Given the description of an element on the screen output the (x, y) to click on. 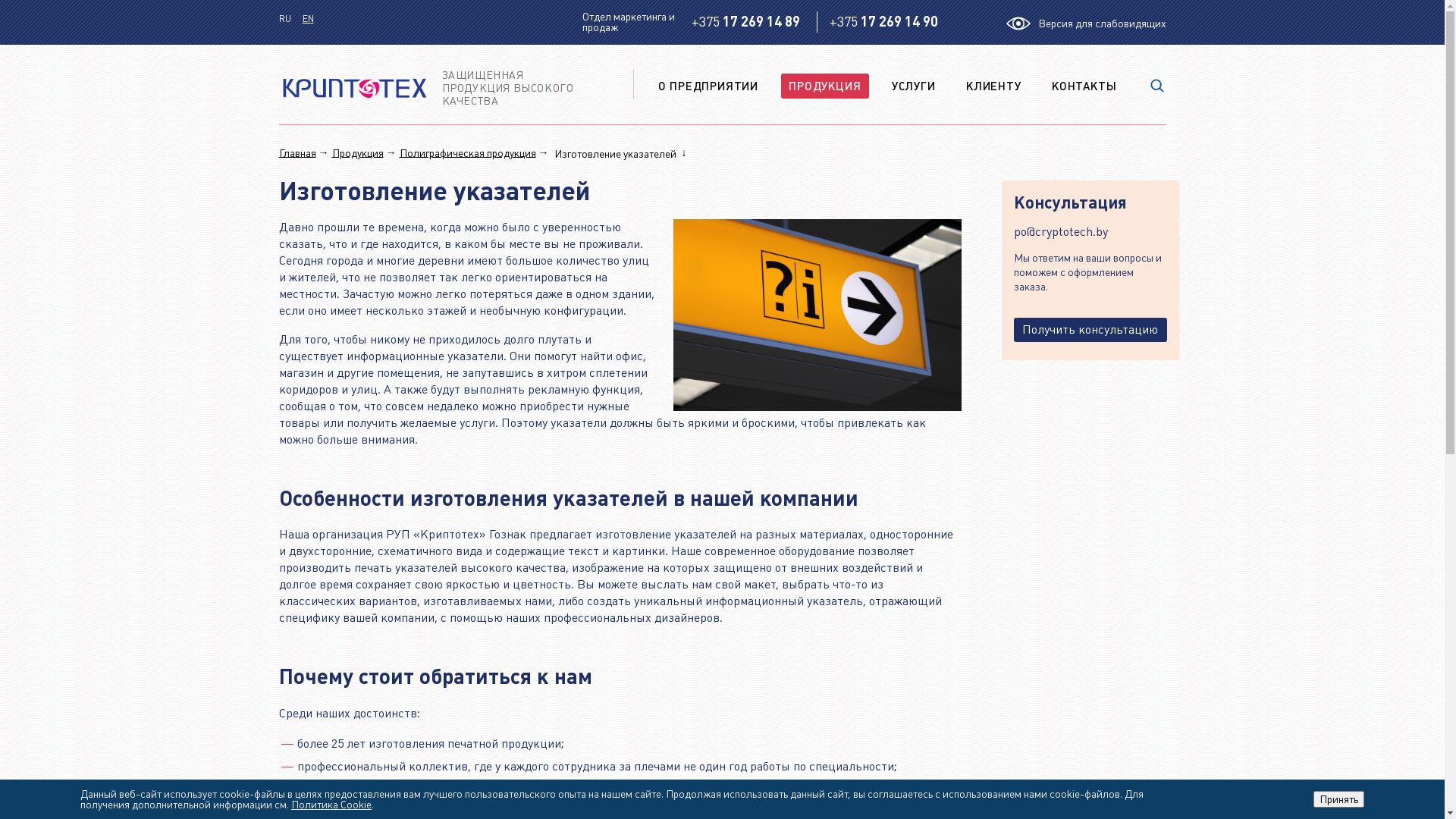
po@cryptotech.by Element type: text (1089, 231)
EN Element type: text (307, 18)
cryptotech-logo.png Element type: hover (354, 88)
+375 17 269 14 90 Element type: text (883, 21)
+375 17 269 14 89 Element type: text (745, 21)
